Given the description of an element on the screen output the (x, y) to click on. 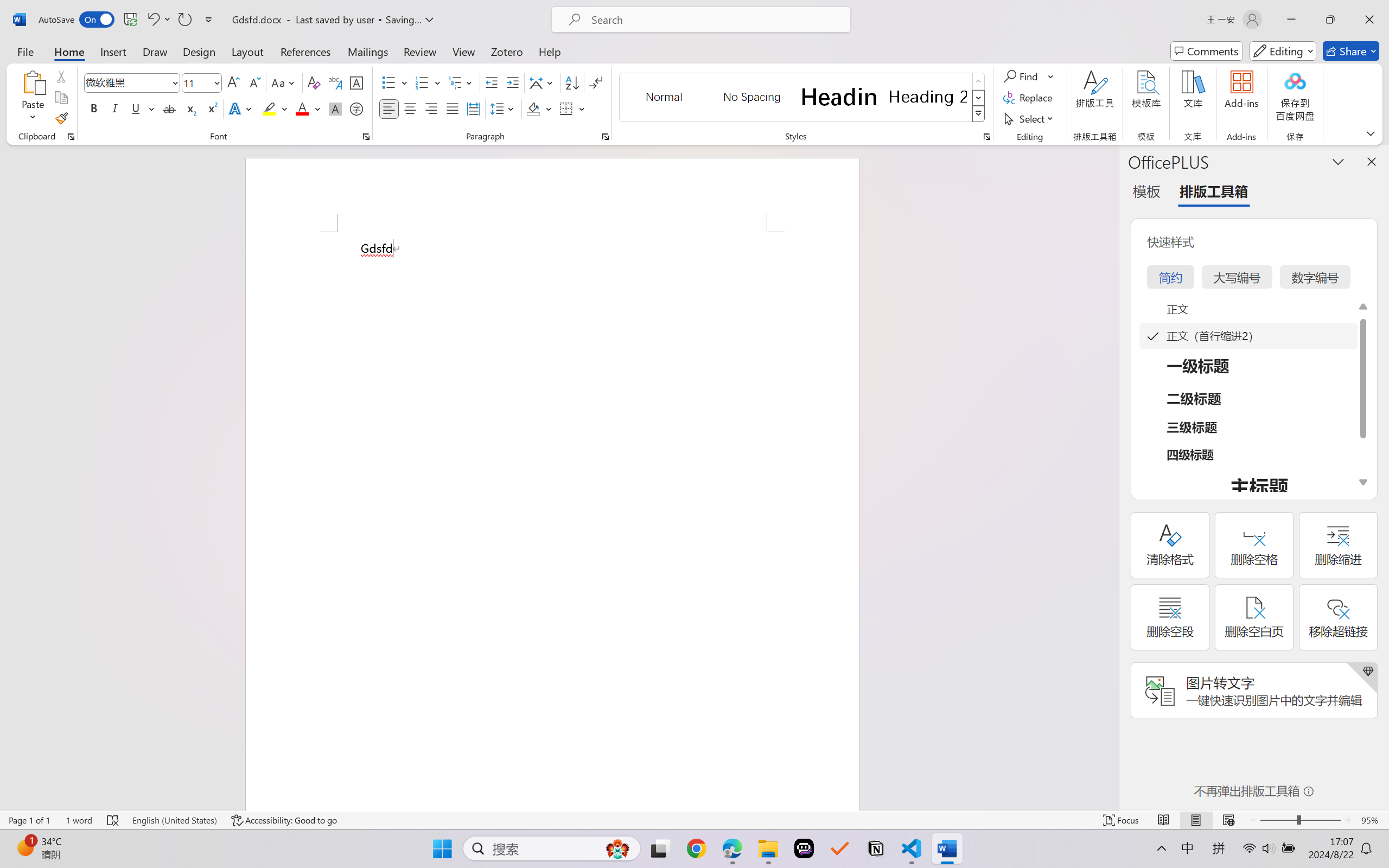
Microsoft search (715, 19)
